Given the description of an element on the screen output the (x, y) to click on. 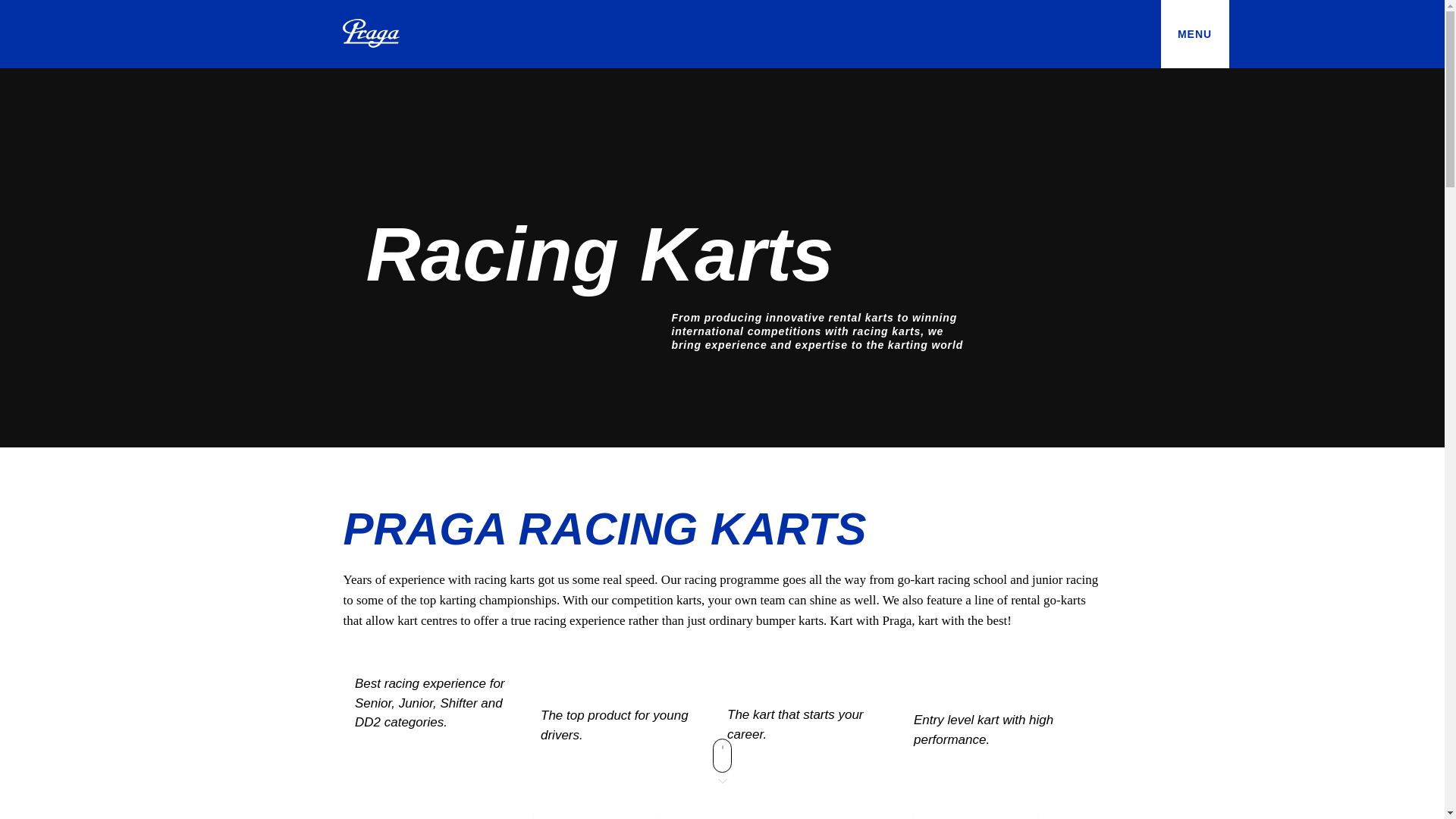
MENU (1194, 33)
